Given the description of an element on the screen output the (x, y) to click on. 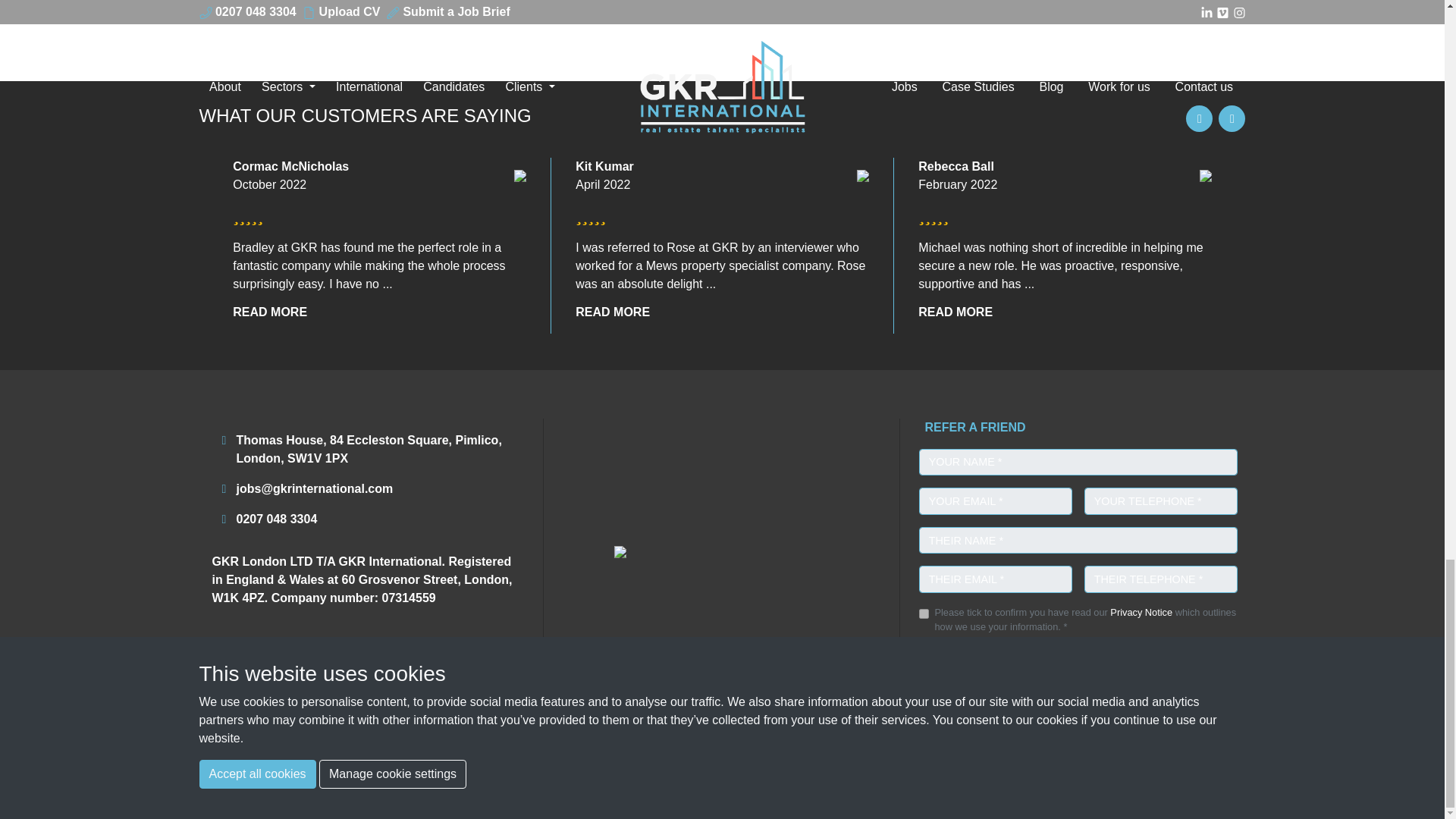
1 (923, 614)
